Given the description of an element on the screen output the (x, y) to click on. 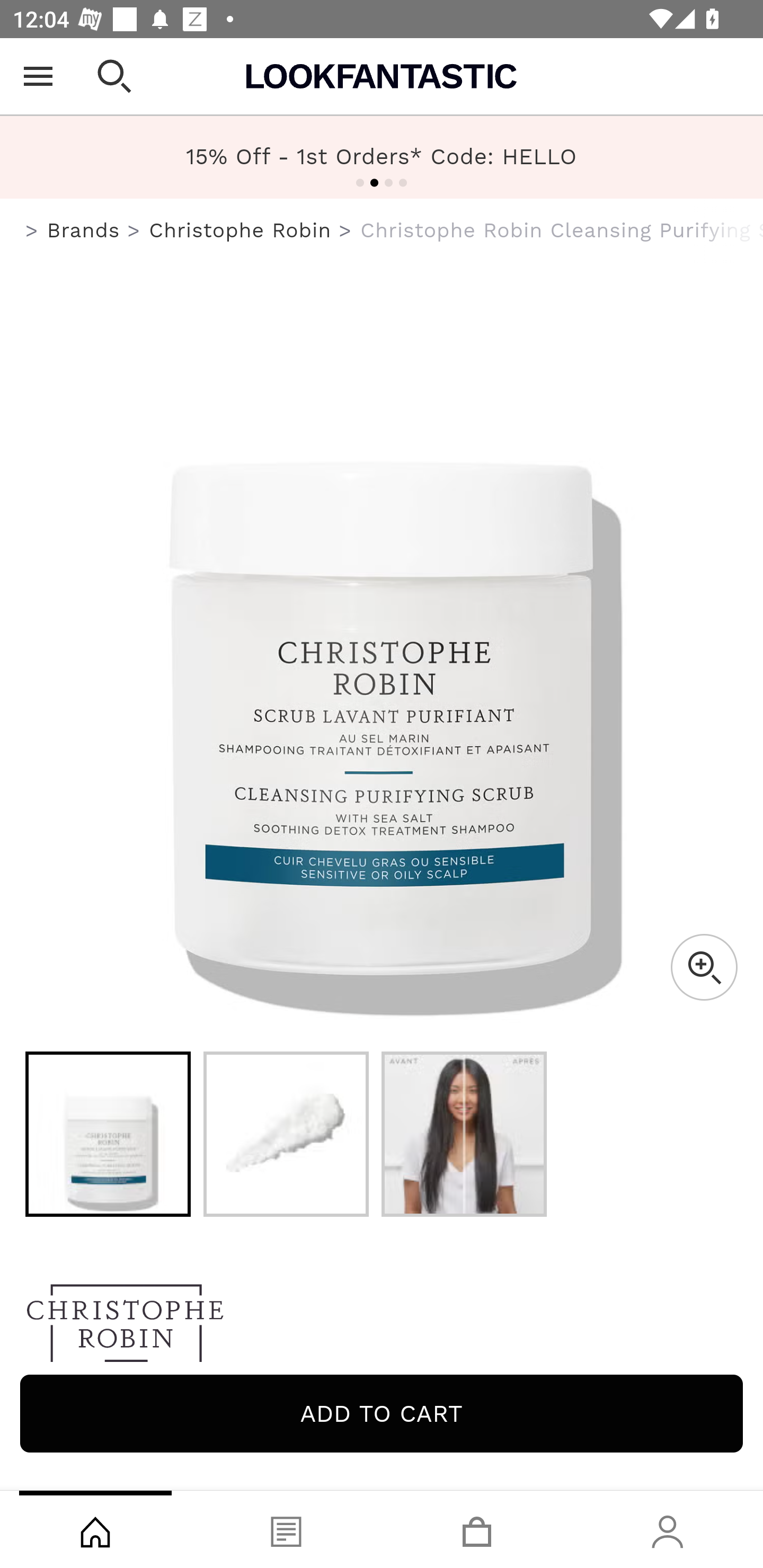
Open Menu (38, 75)
Open search (114, 75)
Lookfantastic USA (381, 75)
FREE US Shipping Over $40 (381, 157)
us.lookfantastic (32, 230)
Brands (82, 230)
Christophe Robin (239, 230)
Zoom (703, 966)
Christophe Robin (381, 1327)
Add to cart (381, 1413)
Shop, tab, 1 of 4 (95, 1529)
Blog, tab, 2 of 4 (285, 1529)
Basket, tab, 3 of 4 (476, 1529)
Account, tab, 4 of 4 (667, 1529)
